Given the description of an element on the screen output the (x, y) to click on. 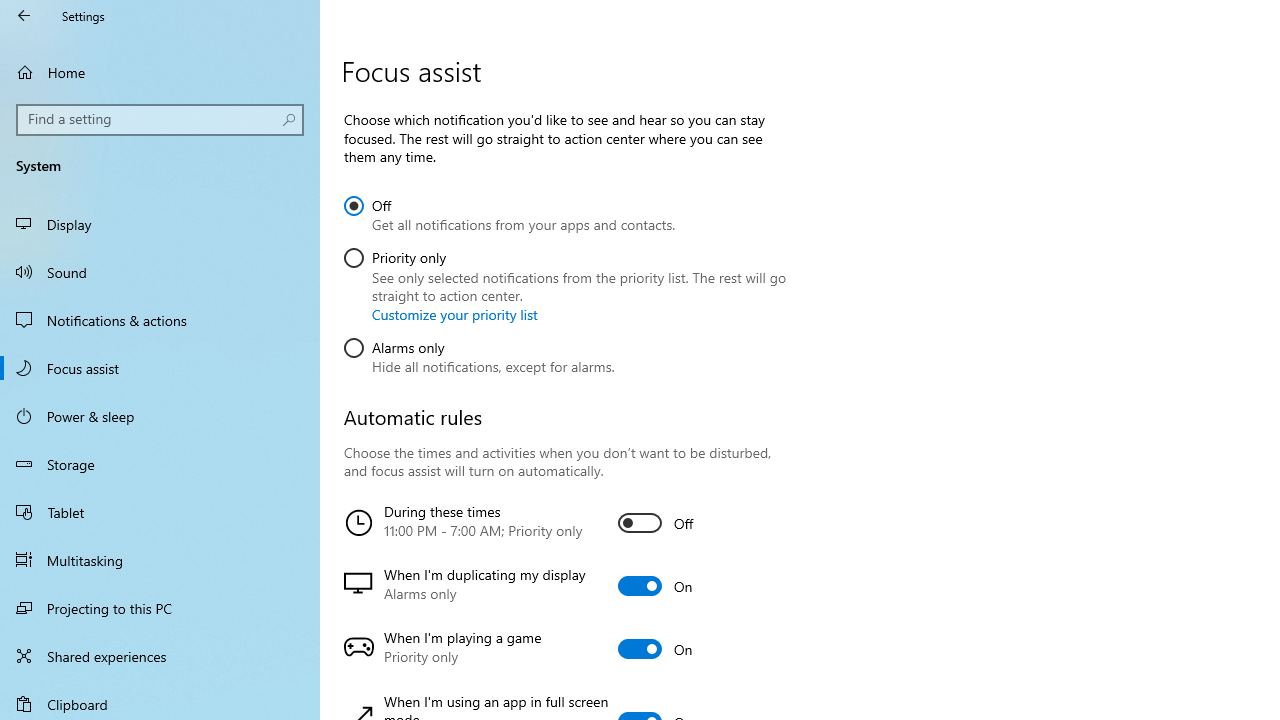
Tablet (160, 511)
Multitasking (160, 559)
Home (160, 71)
Shared experiences (160, 655)
Power & sleep (160, 415)
